Given the description of an element on the screen output the (x, y) to click on. 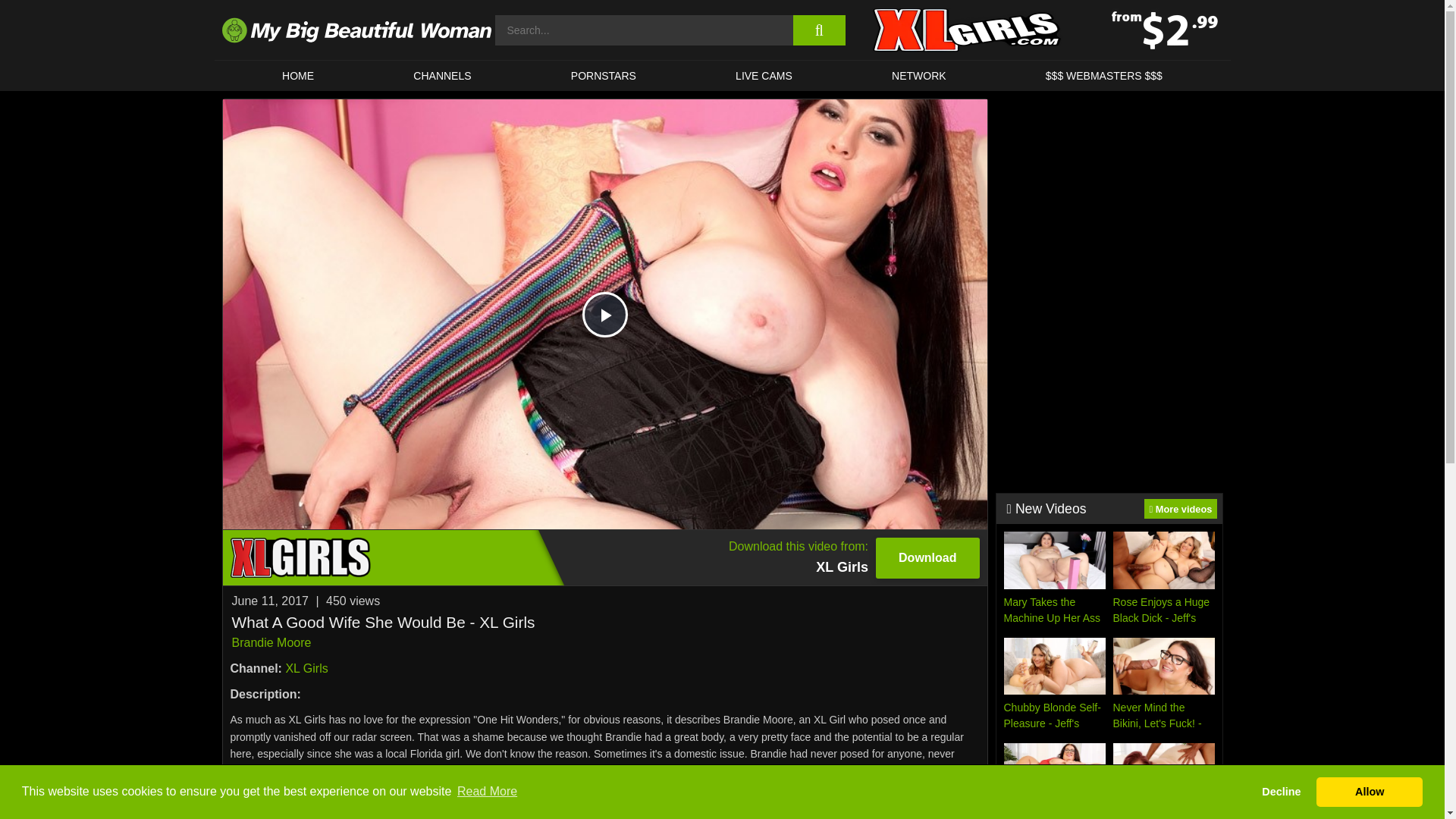
Brandie Moore (271, 642)
PORNSTARS (603, 75)
CHANNELS (604, 557)
Read more (442, 75)
LIVE CAMS (604, 798)
Play Video (763, 75)
Play Video (604, 313)
XL Girls (604, 313)
NETWORK (306, 667)
